Given the description of an element on the screen output the (x, y) to click on. 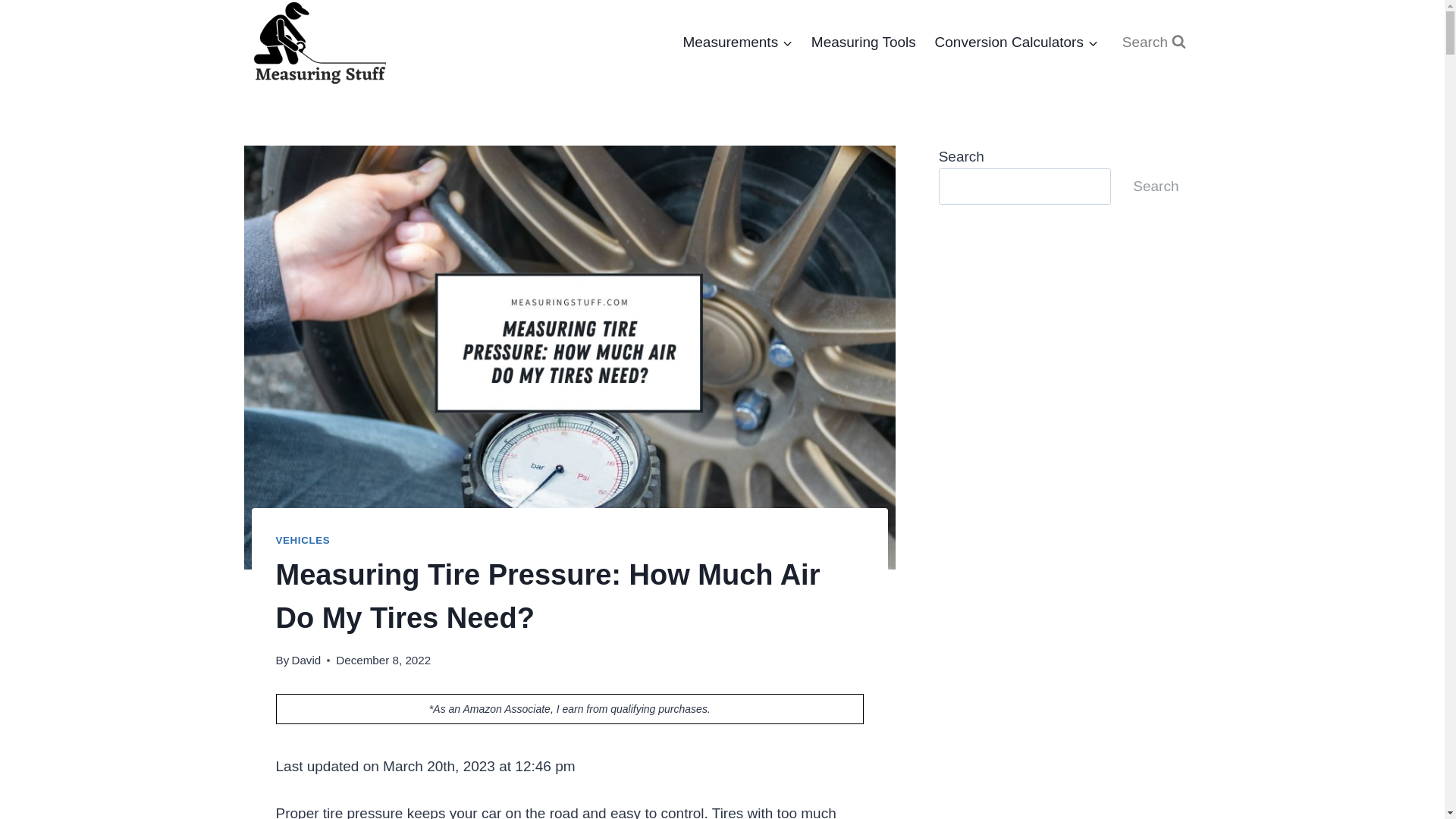
Measuring Tools (863, 42)
Conversion Calculators (1015, 42)
Search (1153, 41)
Measurements (737, 42)
David (305, 659)
VEHICLES (303, 540)
